Given the description of an element on the screen output the (x, y) to click on. 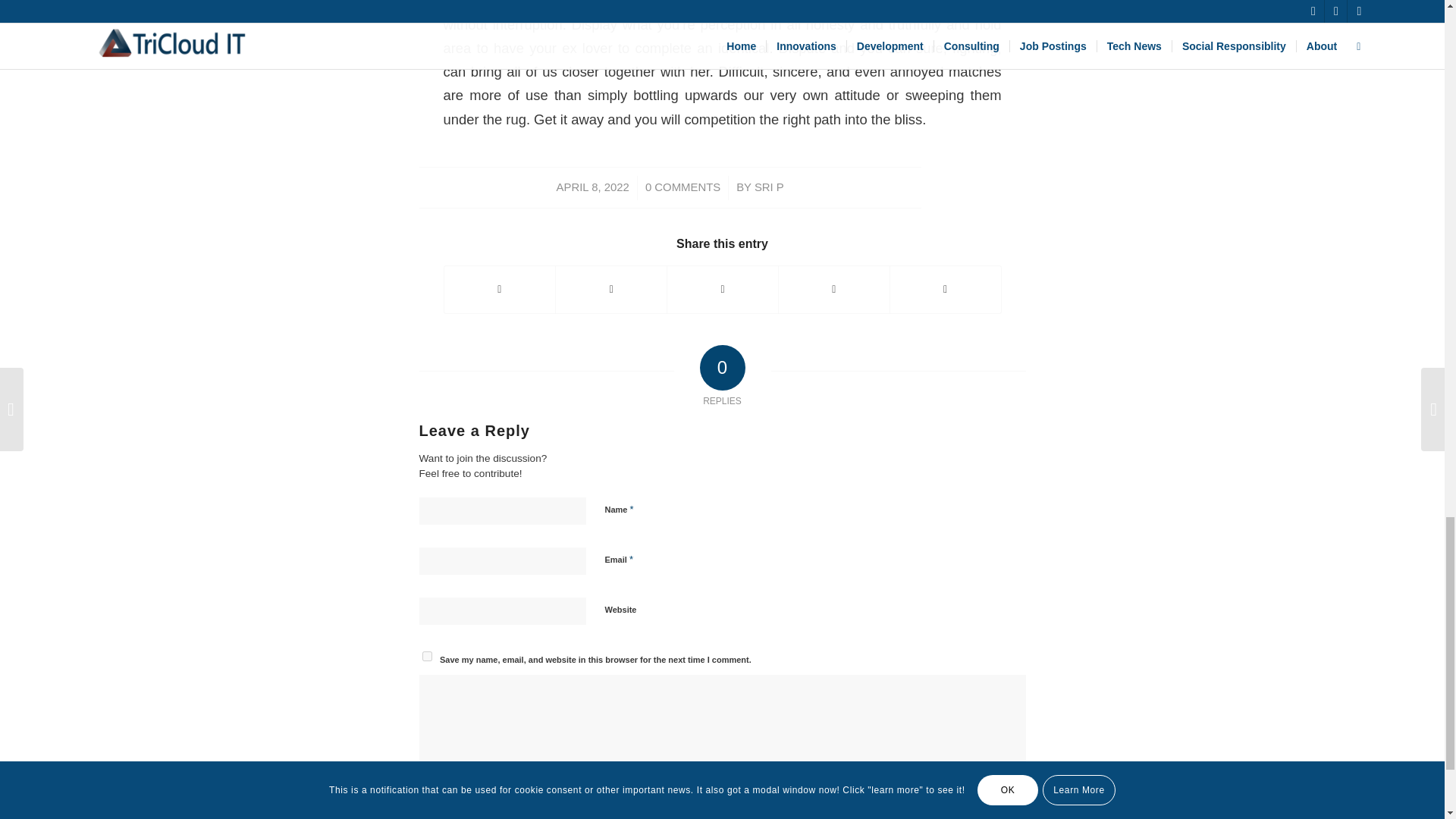
Posts by Sri P (769, 186)
0 COMMENTS (682, 186)
Post Comment (468, 815)
SRI P (769, 186)
Post Comment (468, 815)
yes (426, 655)
